Given the description of an element on the screen output the (x, y) to click on. 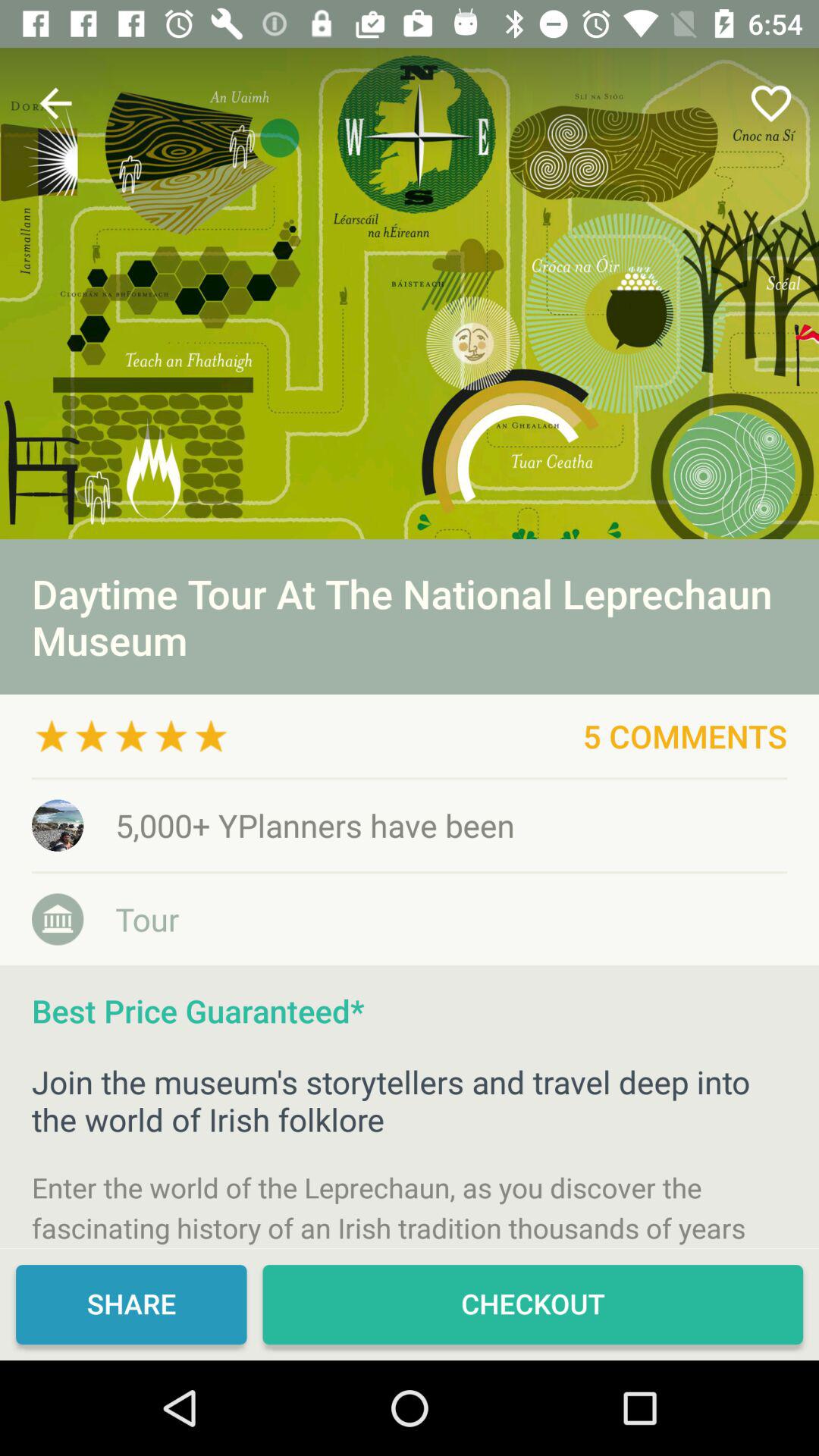
click icon at the bottom left corner (130, 1304)
